Given the description of an element on the screen output the (x, y) to click on. 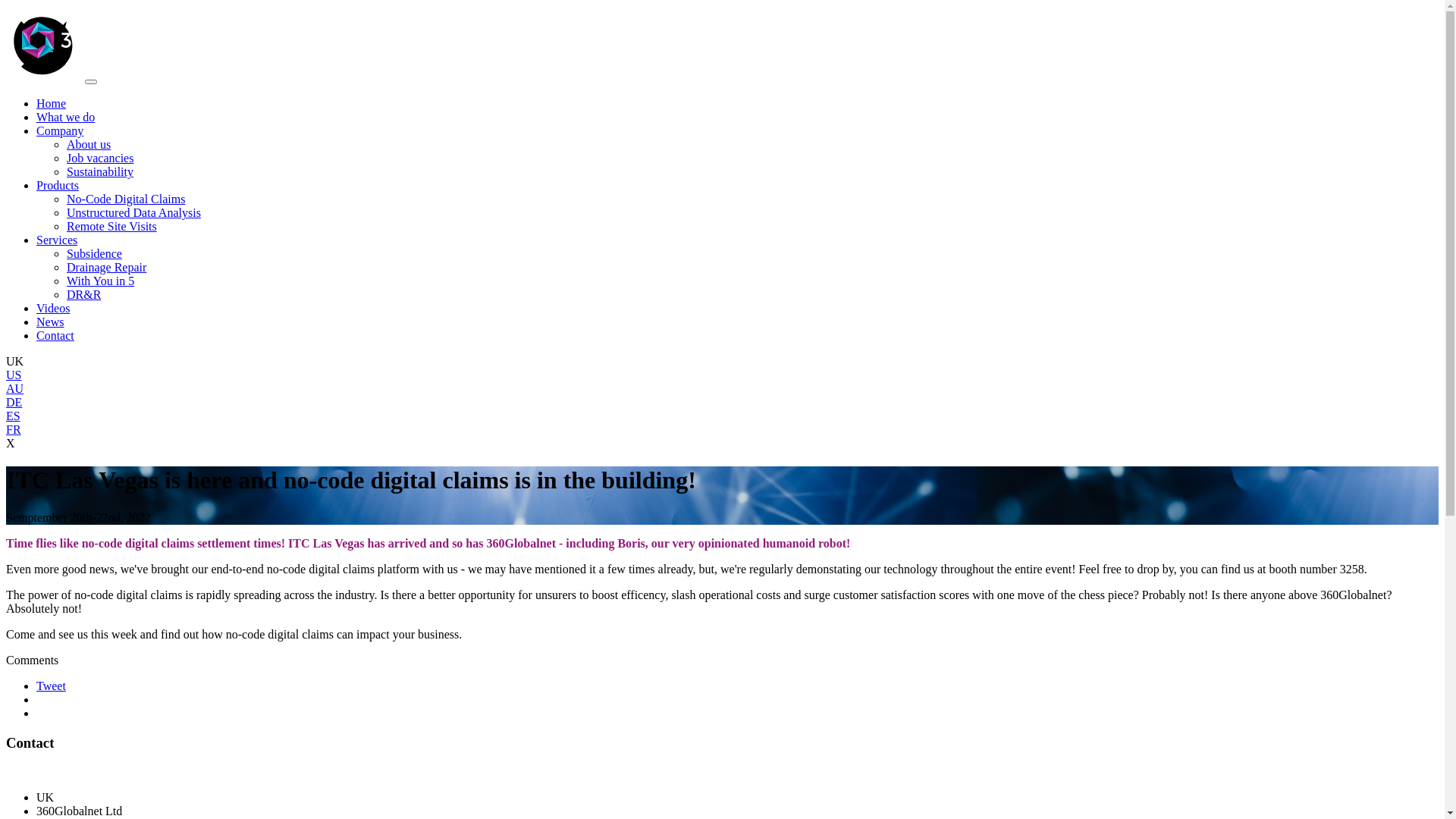
Drainage Repair Element type: text (106, 266)
DE Element type: text (722, 402)
News Element type: text (49, 321)
ES Element type: text (722, 416)
Contact Element type: text (55, 335)
What we do Element type: text (65, 116)
No-Code Digital Claims Element type: text (125, 198)
Services Element type: text (56, 239)
Company Element type: text (59, 130)
Home Element type: text (50, 103)
Videos Element type: text (52, 307)
Subsidence Element type: text (94, 253)
DR&R Element type: text (83, 294)
Job vacancies Element type: text (99, 157)
FR Element type: text (722, 429)
Sustainability Element type: text (99, 171)
AU Element type: text (722, 388)
With You in 5 Element type: text (100, 280)
About us Element type: text (88, 144)
Tweet Element type: text (50, 685)
Unstructured Data Analysis Element type: text (133, 212)
Remote Site Visits Element type: text (111, 225)
Products Element type: text (57, 184)
US Element type: text (722, 375)
